Given the description of an element on the screen output the (x, y) to click on. 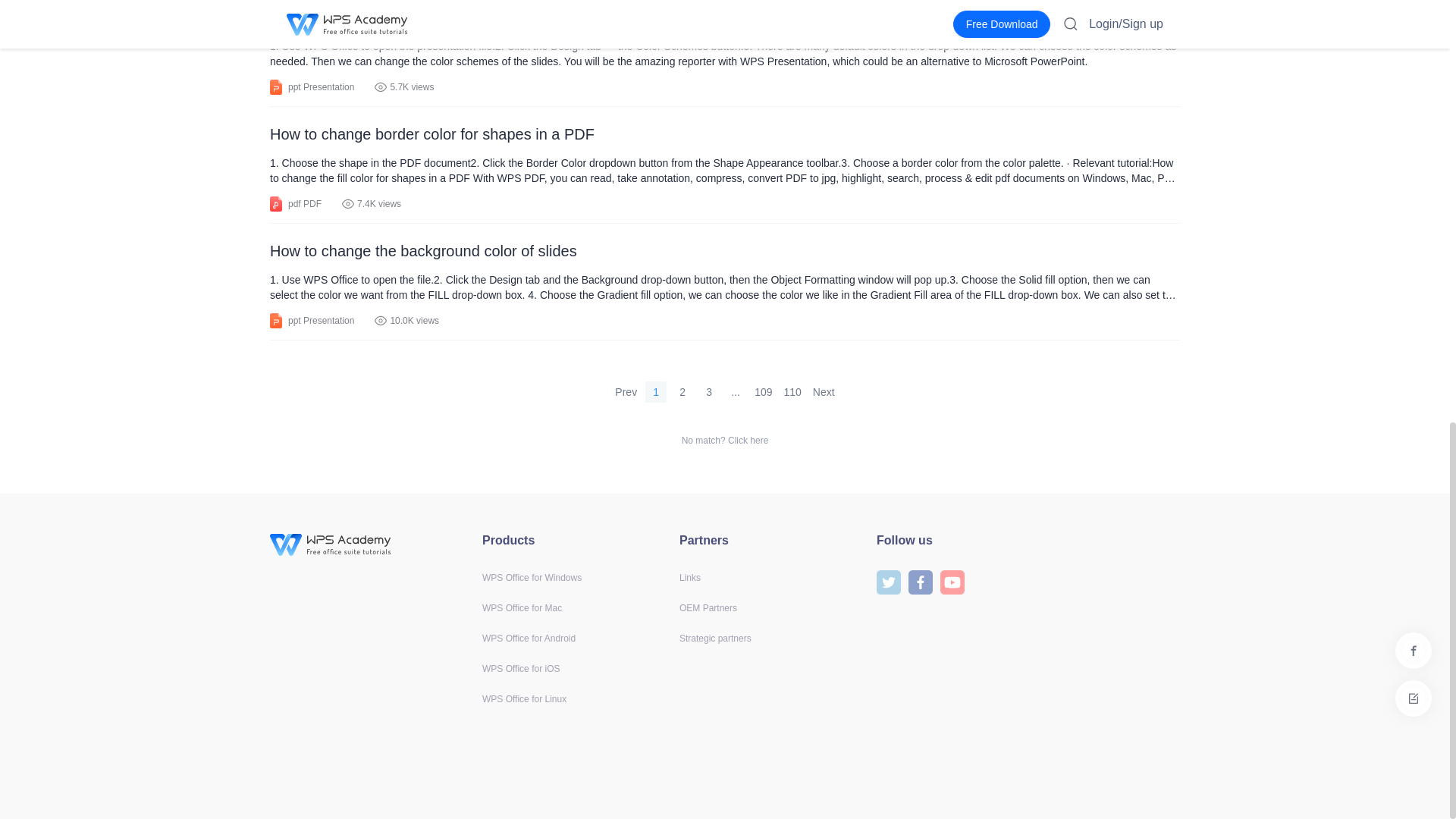
3 (708, 391)
No match? Click here (724, 440)
110 (792, 391)
... (735, 391)
Next (823, 391)
WPS Office for Windows (530, 577)
WPS Office for Mac (521, 607)
1 (655, 391)
Prev (625, 391)
How to change the background color of slides (724, 250)
2 (682, 391)
How to change the color schemes of the slides (724, 17)
109 (762, 391)
How to change border color for shapes in a PDF (724, 133)
